Given the description of an element on the screen output the (x, y) to click on. 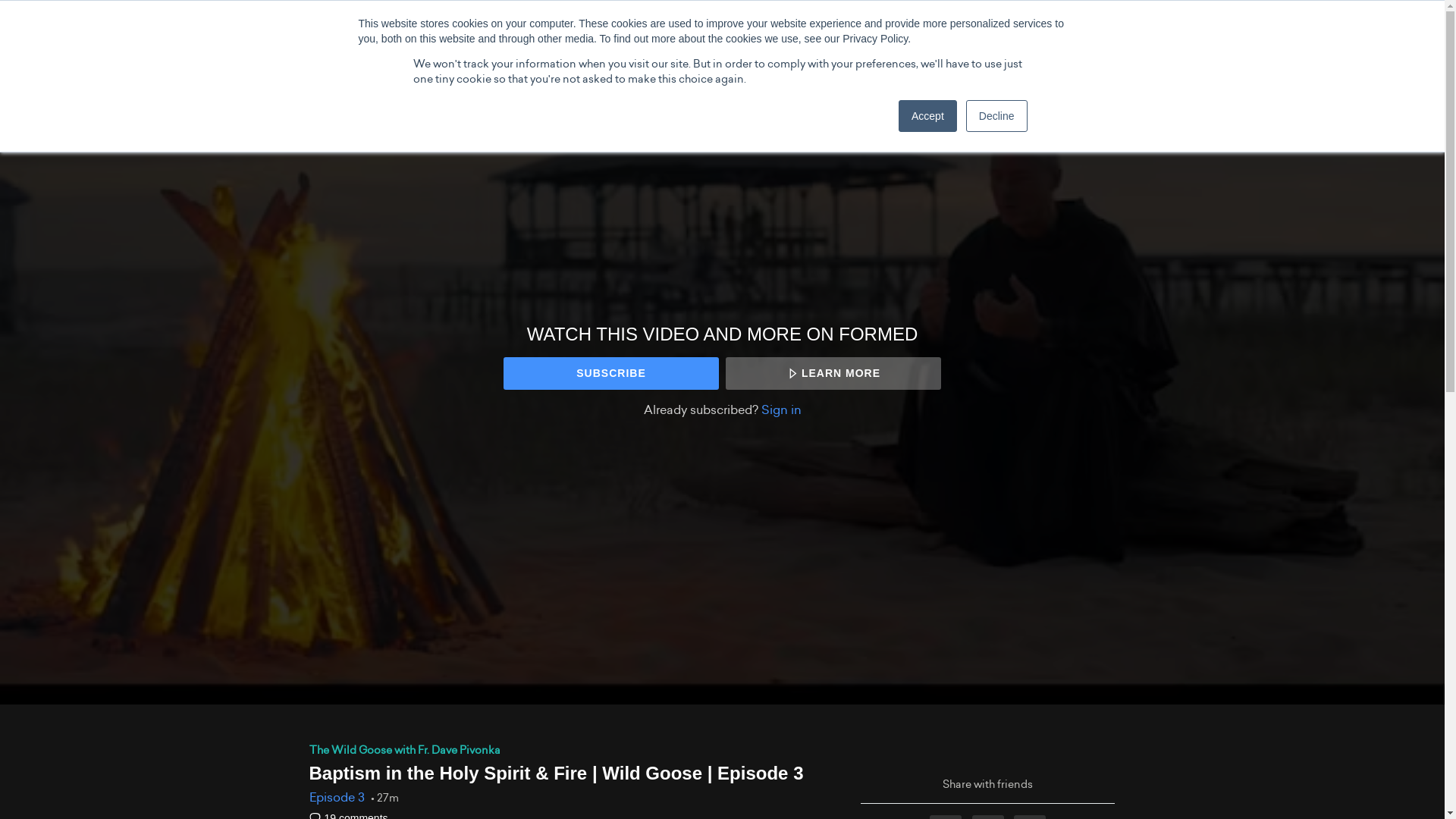
Skip to main content (53, 7)
View Latest Comments (348, 815)
AUDIO (384, 24)
HOME (219, 24)
Decline (996, 115)
Accept (927, 115)
